Given the description of an element on the screen output the (x, y) to click on. 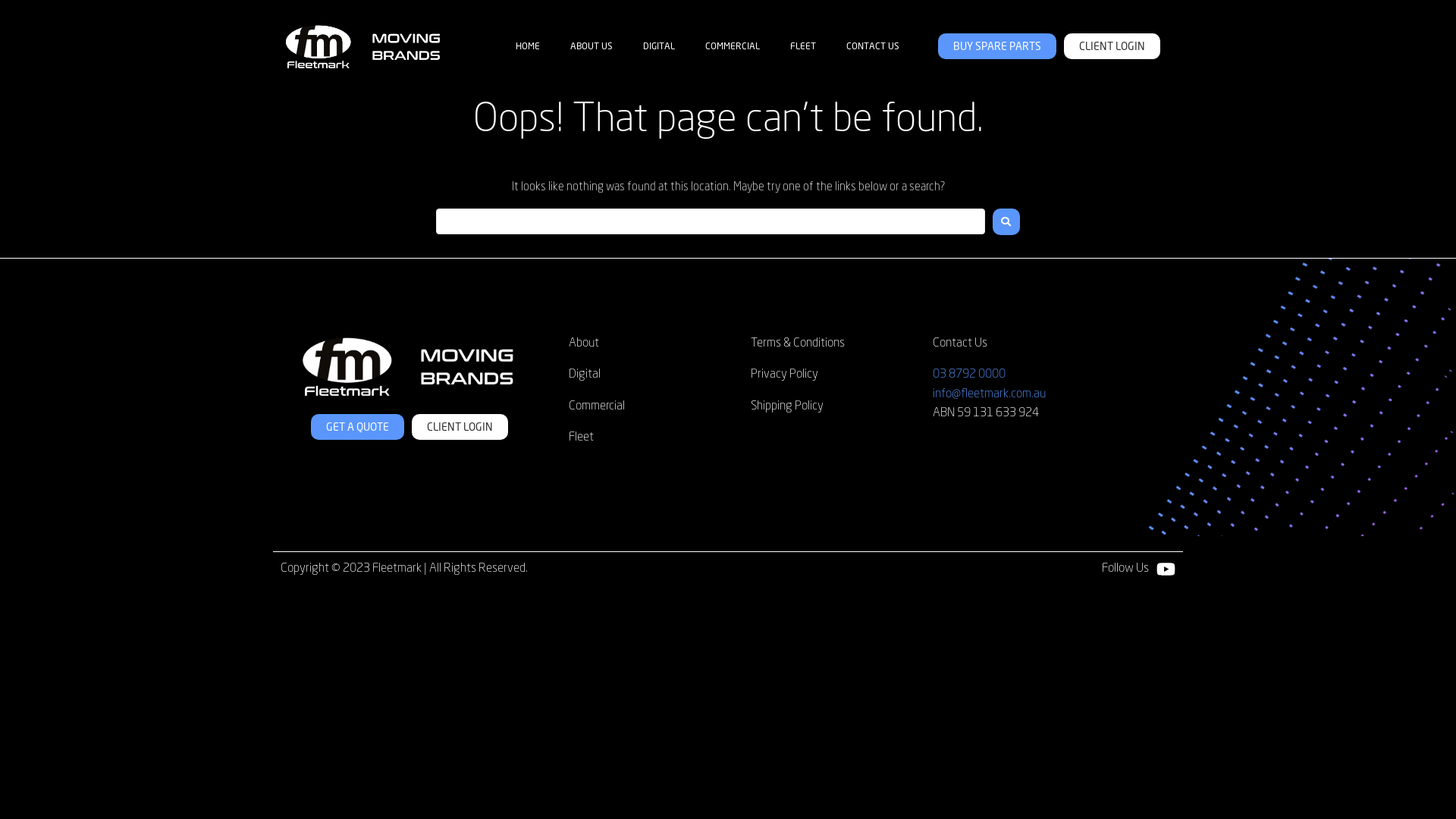
Fleet Element type: text (580, 437)
HOME Element type: text (527, 45)
Contact Us Element type: text (959, 343)
FLEET Element type: text (803, 45)
About Element type: text (583, 343)
03 8792 0000 Element type: text (968, 374)
Commercial Element type: text (596, 406)
CONTACT US Element type: text (872, 45)
ABOUT US Element type: text (591, 45)
BUY SPARE PARTS Element type: text (997, 46)
Digital Element type: text (584, 374)
GET A QUOTE Element type: text (357, 426)
COMMERCIAL Element type: text (732, 45)
DIGITAL Element type: text (658, 45)
CLIENT LOGIN Element type: text (459, 426)
info@fleetmark.com.au Element type: text (988, 394)
Shipping Policy Element type: text (786, 406)
Terms & Conditions Element type: text (797, 343)
CLIENT LOGIN Element type: text (1111, 46)
Privacy Policy Element type: text (784, 374)
